Given the description of an element on the screen output the (x, y) to click on. 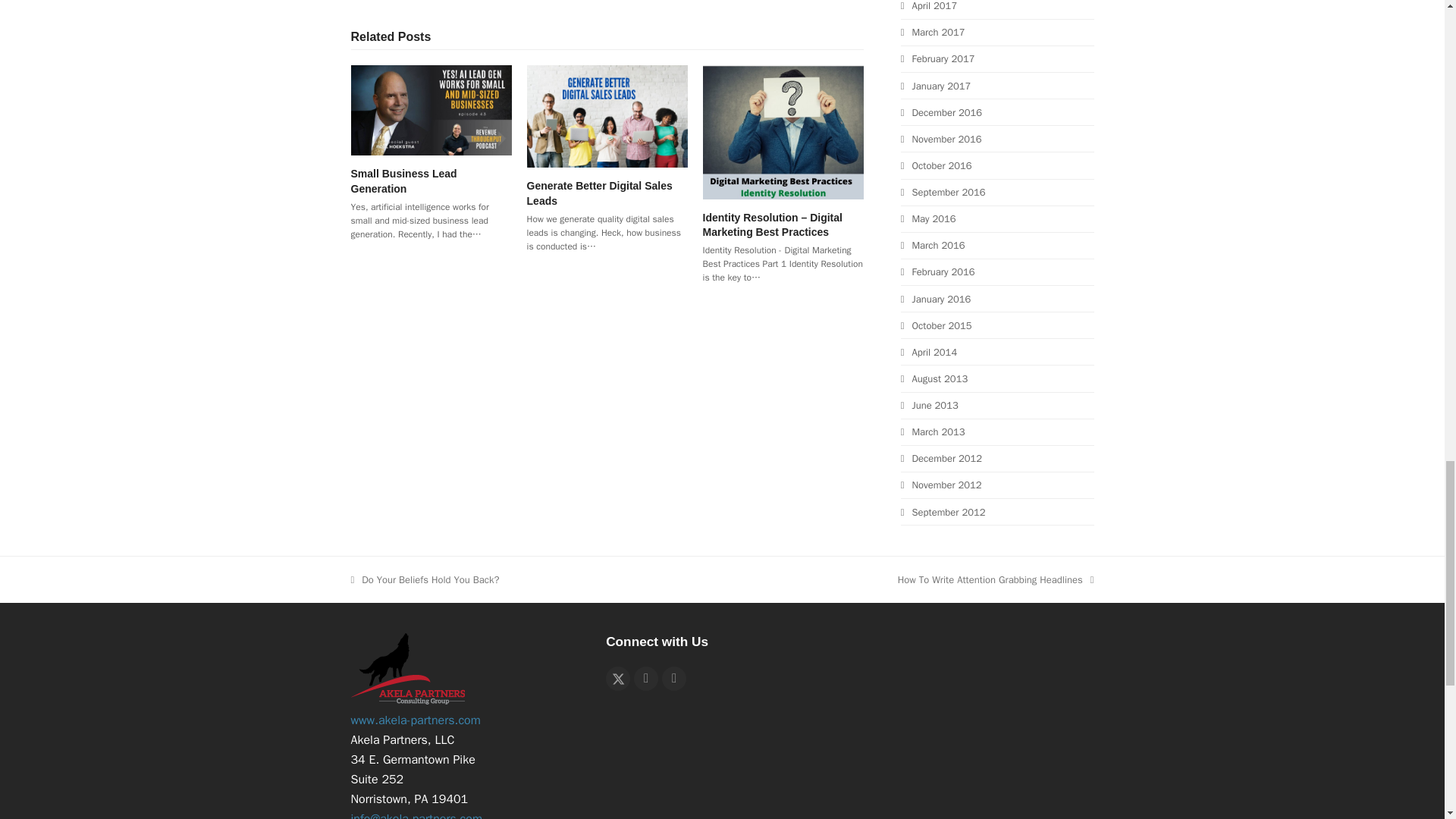
Small Business Lead Generation (403, 180)
Generate Better Digital Sales Leads (607, 115)
Small Business Lead Generation (430, 109)
Facebook (645, 678)
LinkedIn (673, 678)
Generate Better Digital Sales Leads (599, 192)
